Given the description of an element on the screen output the (x, y) to click on. 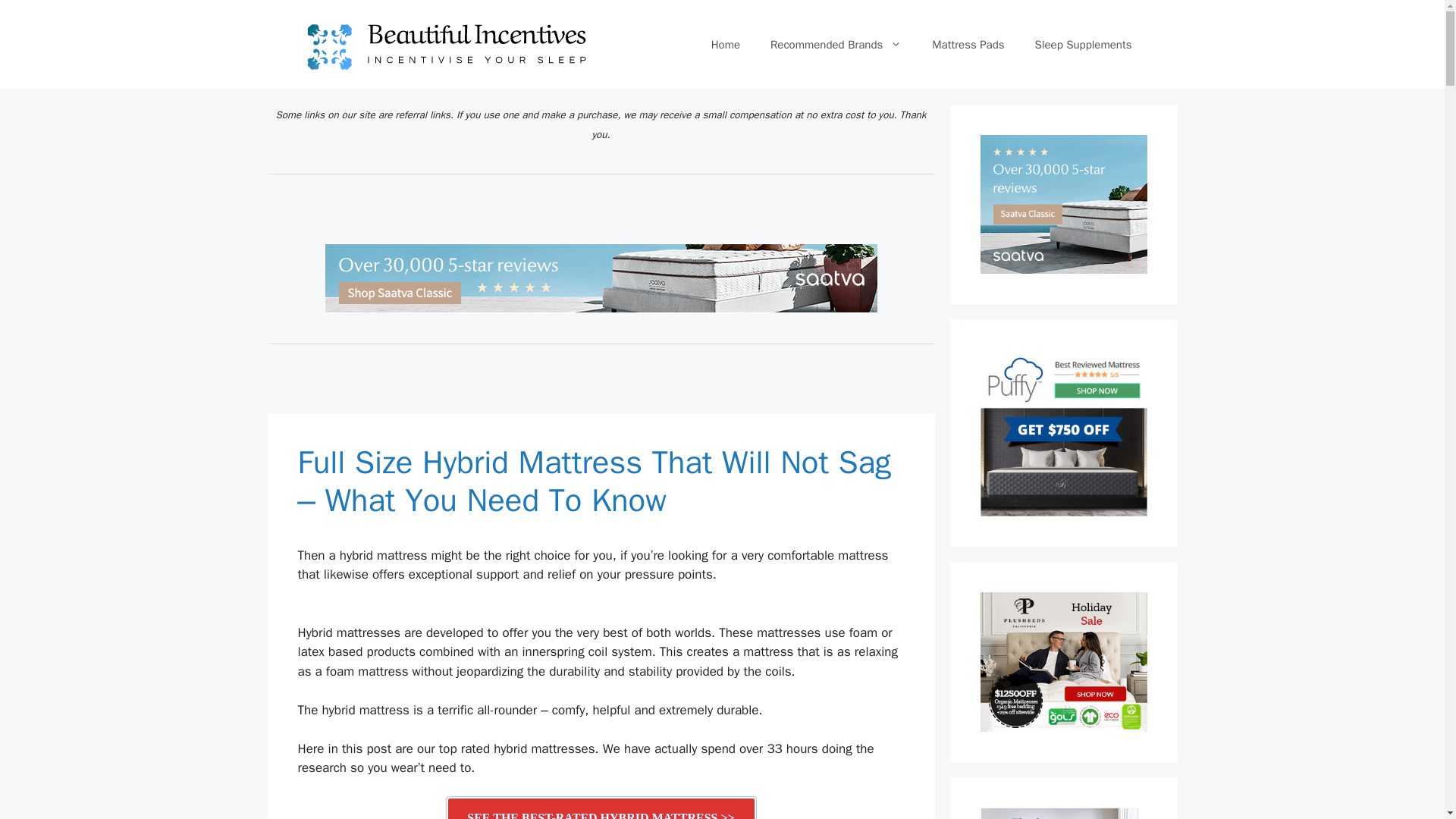
Sleep Supplements (1083, 44)
Recommended Brands (836, 44)
Mattress Pads (968, 44)
Home (725, 44)
